Given the description of an element on the screen output the (x, y) to click on. 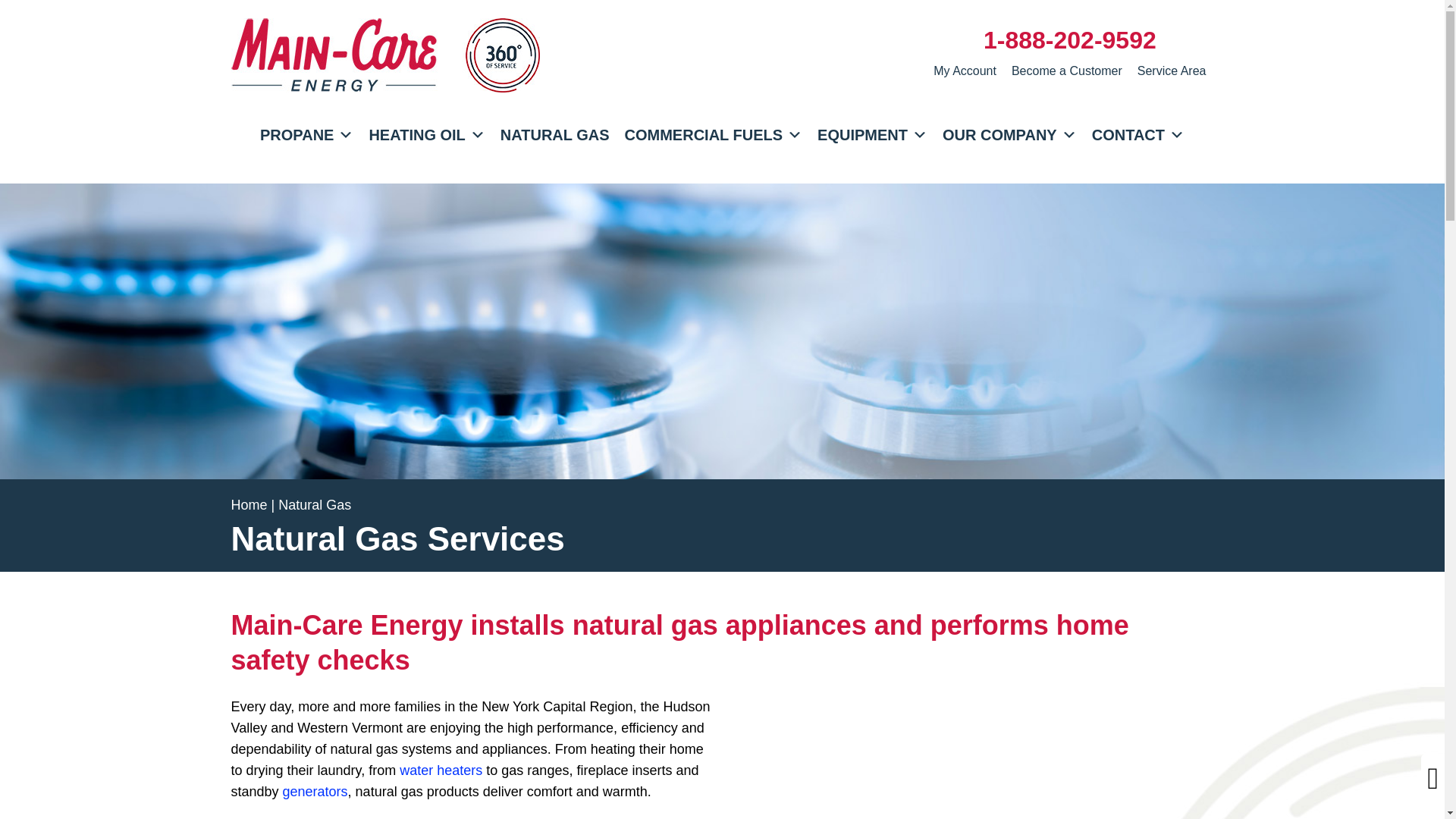
COMMERCIAL FUELS (713, 134)
YouTube video player (971, 757)
Service Area (1171, 71)
Become a Customer (1066, 71)
EQUIPMENT (871, 134)
HEATING OIL (426, 134)
1-888-202-9592 (1070, 40)
PROPANE (306, 134)
My Account (965, 71)
NATURAL GAS (555, 134)
